Given the description of an element on the screen output the (x, y) to click on. 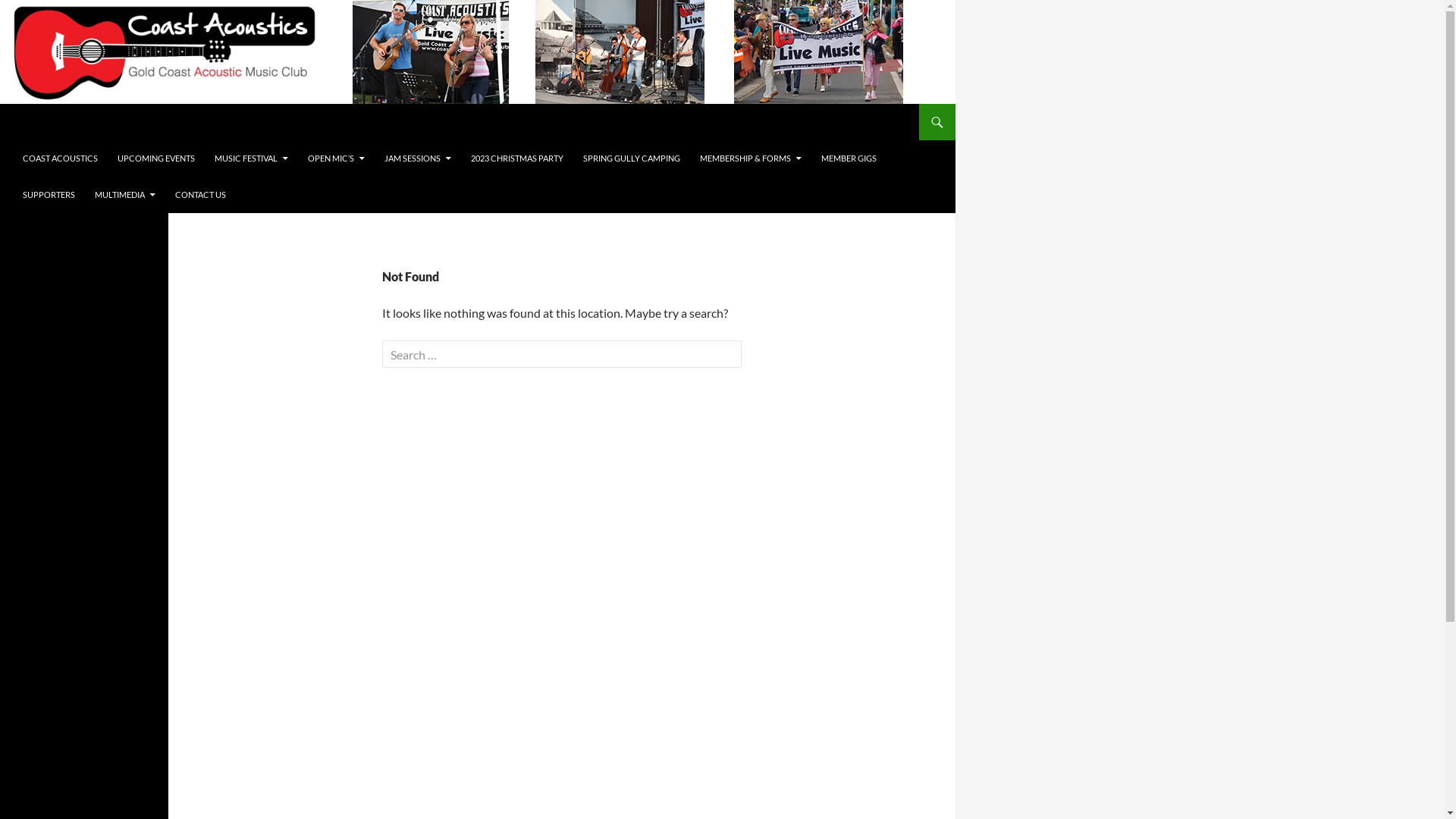
MUSIC FESTIVAL Element type: text (251, 158)
Search Element type: text (3, 103)
SKIP TO CONTENT Element type: text (21, 139)
MEMBER GIGS Element type: text (848, 158)
UPCOMING EVENTS Element type: text (155, 158)
CONTACT US Element type: text (200, 194)
2023 CHRISTMAS PARTY Element type: text (516, 158)
MULTIMEDIA Element type: text (124, 194)
SPRING GULLY CAMPING Element type: text (631, 158)
MEMBERSHIP & FORMS Element type: text (750, 158)
Search Element type: text (40, 13)
JAM SESSIONS Element type: text (417, 158)
COAST ACOUSTICS Element type: text (59, 158)
SUPPORTERS Element type: text (48, 194)
Gold Coast Acoustics Music Club (C) 2017 Element type: text (147, 121)
